Given the description of an element on the screen output the (x, y) to click on. 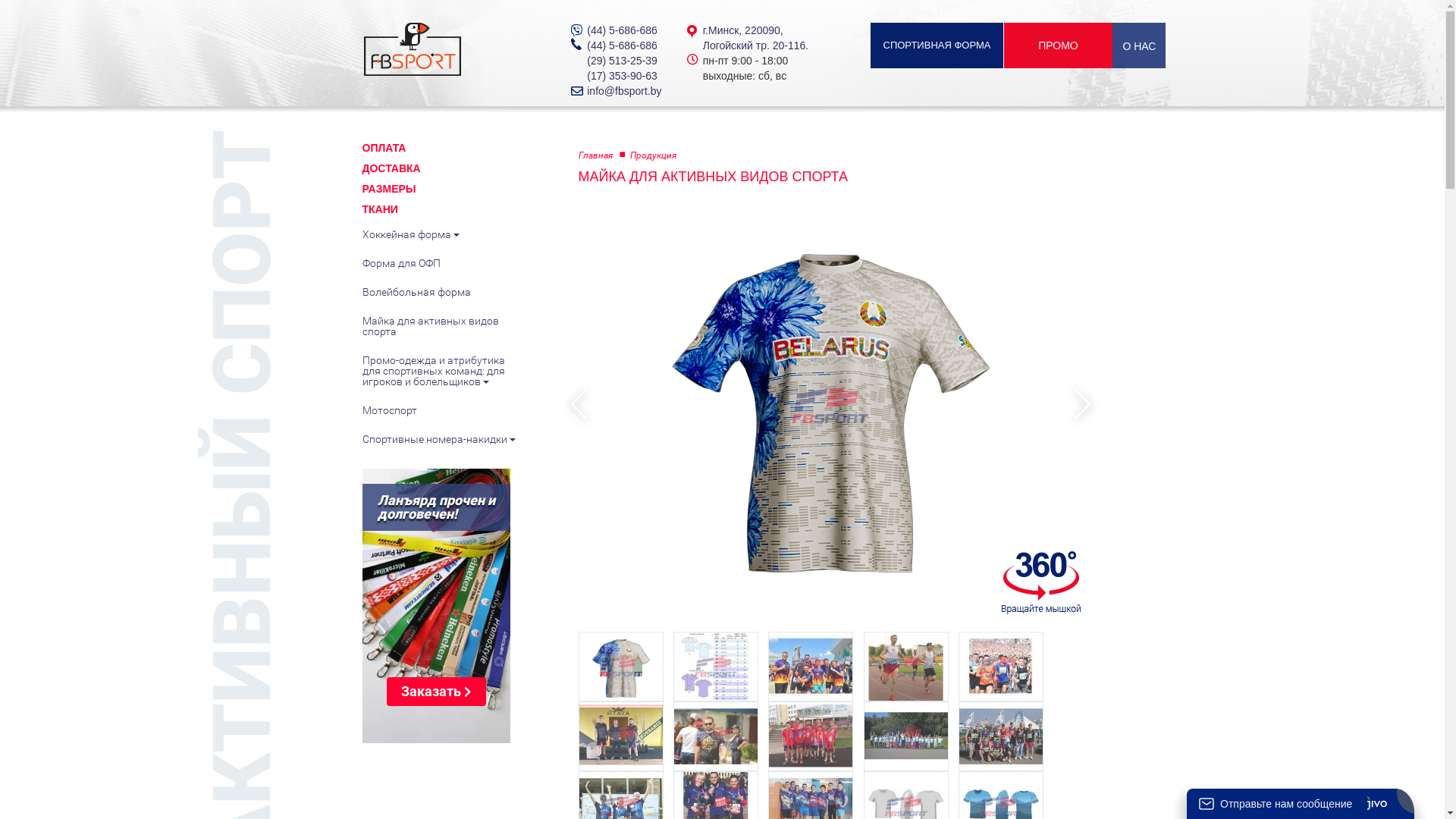
(44) 5-686-686 Element type: text (621, 45)
(29) 513-25-39 Element type: text (621, 60)
(44) 5-686-686 Element type: text (621, 29)
  Element type: text (1081, 404)
  Element type: text (578, 404)
(17) 353-90-63 Element type: text (621, 75)
info@fbsport.by Element type: text (623, 90)
